Given the description of an element on the screen output the (x, y) to click on. 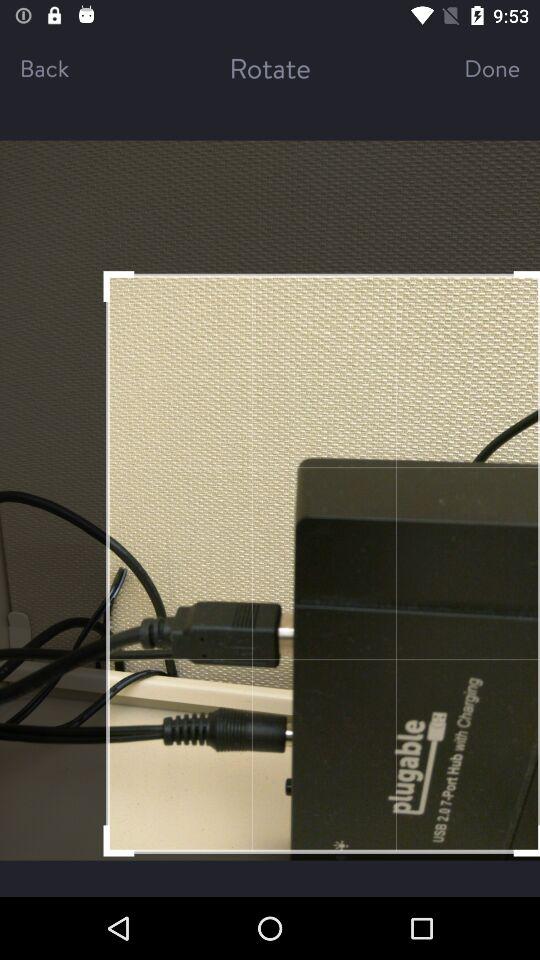
turn off item to the right of the rotate item (474, 67)
